Given the description of an element on the screen output the (x, y) to click on. 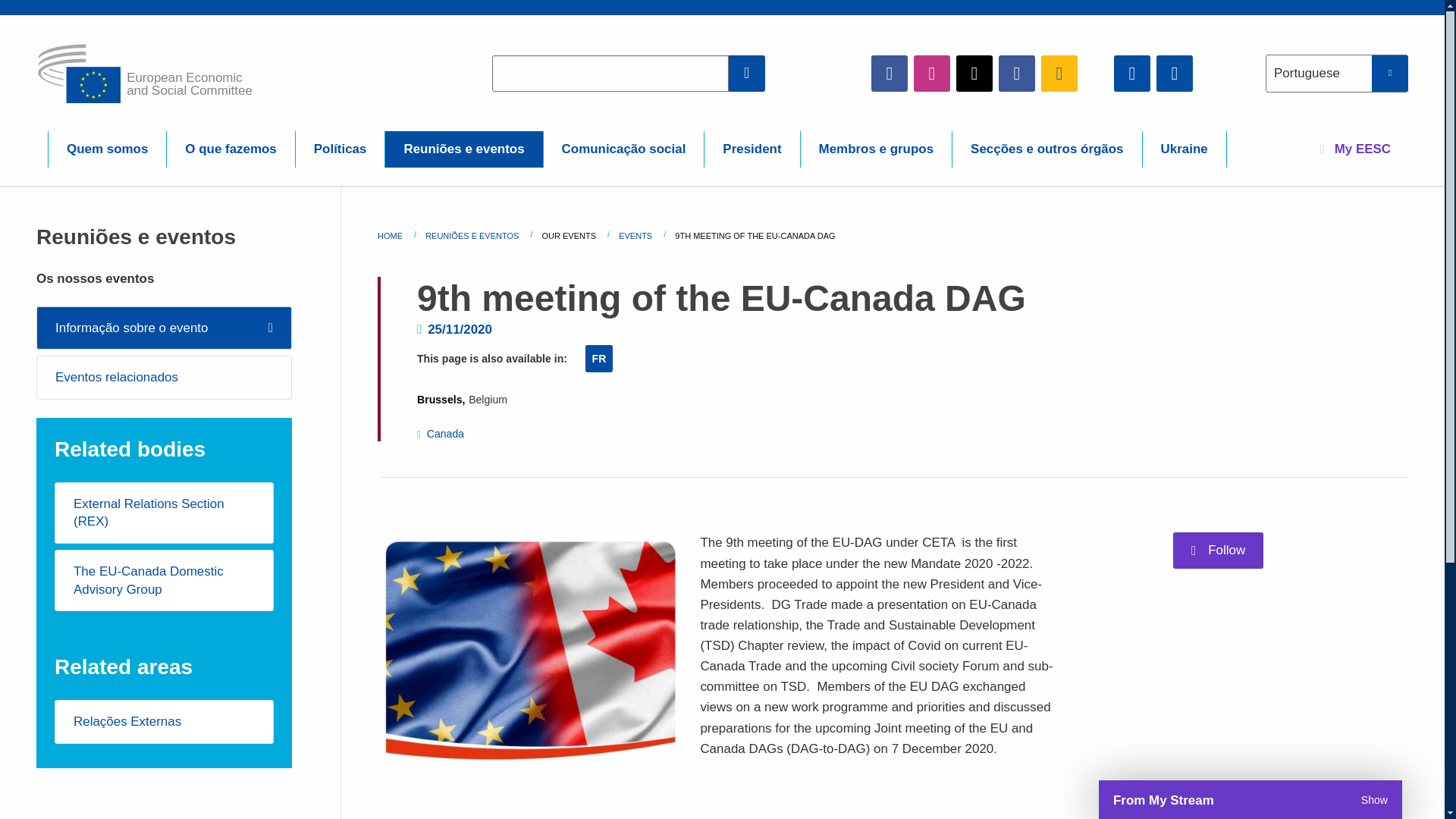
My EESC (1355, 149)
Search EESC Website (747, 72)
